Given the description of an element on the screen output the (x, y) to click on. 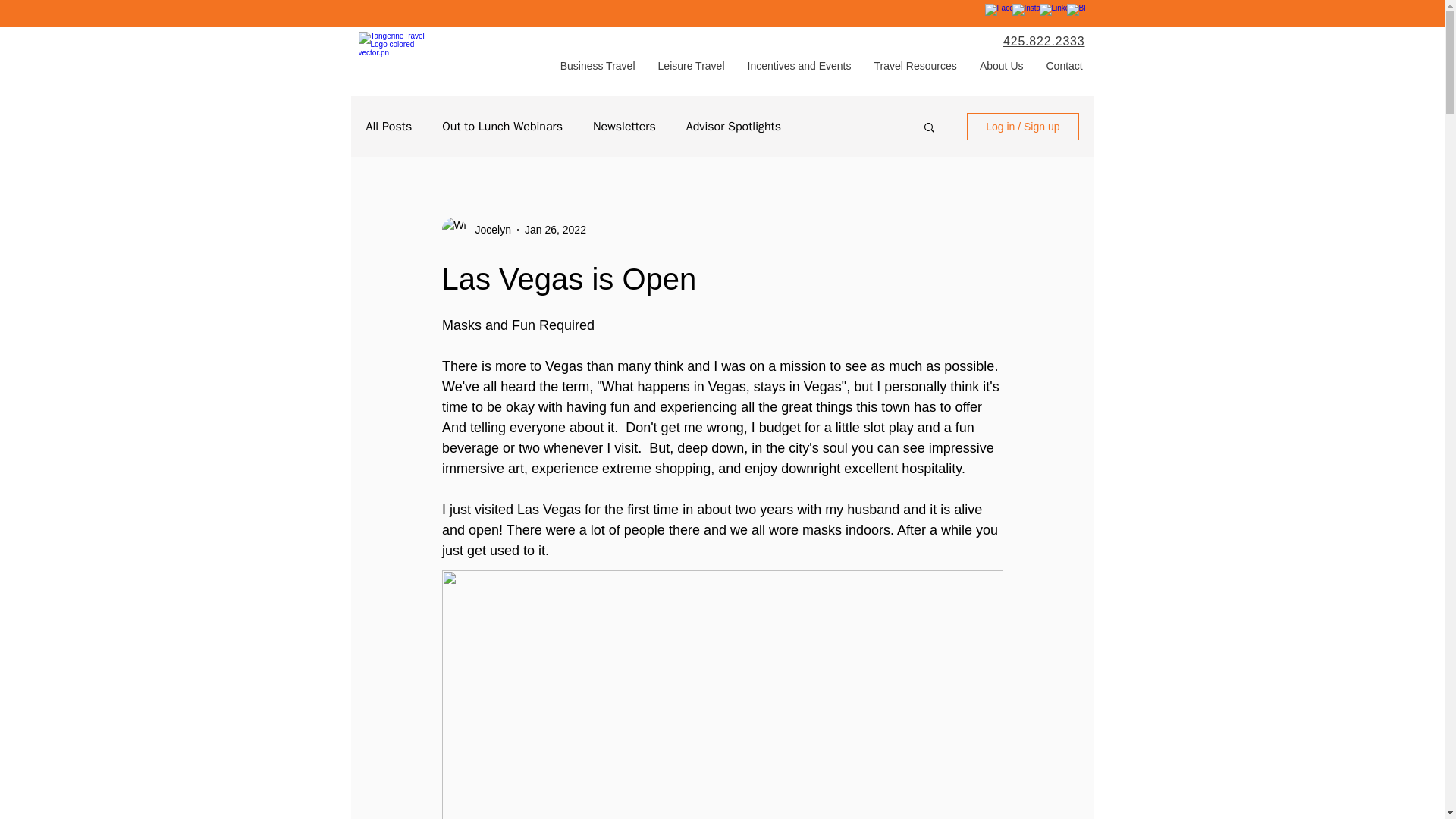
Jocelyn (476, 229)
Newsletters (624, 125)
Advisor Spotlights (732, 125)
Jan 26, 2022 (555, 228)
Leisure Travel (690, 65)
Contact (1063, 65)
All Posts (388, 125)
Out to Lunch Webinars (502, 125)
About Us (1000, 65)
Business Travel (597, 65)
